Given the description of an element on the screen output the (x, y) to click on. 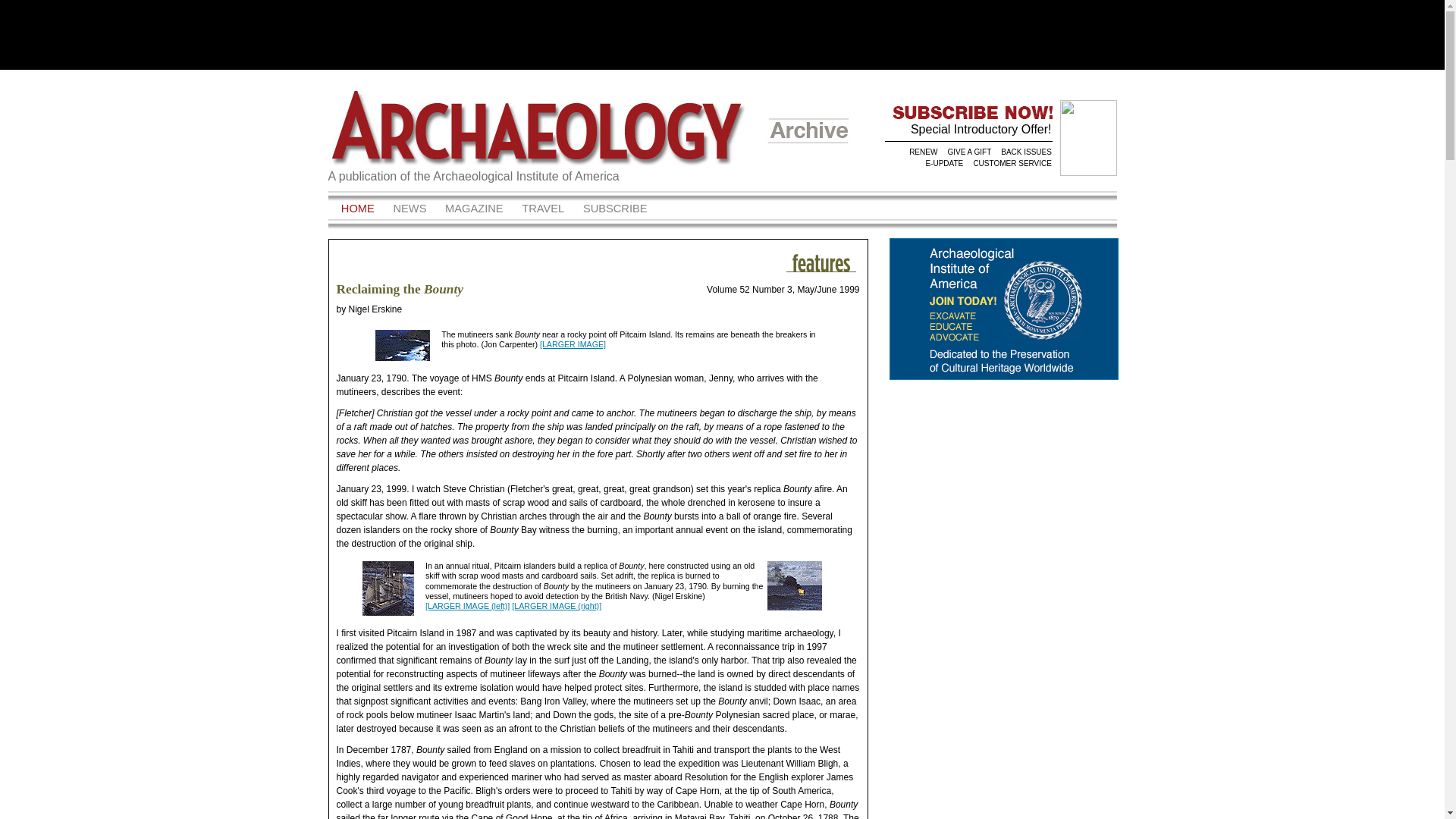
3rd party ad content (721, 33)
3rd party ad content (1002, 423)
TRAVEL (543, 208)
3rd party ad content (1002, 562)
E-UPDATE (942, 162)
CUSTOMER SERVICE (1011, 162)
BACK ISSUES (1024, 152)
GIVE A GIFT (967, 152)
MAGAZINE (473, 208)
3rd party ad content (1002, 745)
RENEW (922, 152)
SUBSCRIBE (615, 208)
HOME (357, 208)
NEWS (409, 208)
